Given the description of an element on the screen output the (x, y) to click on. 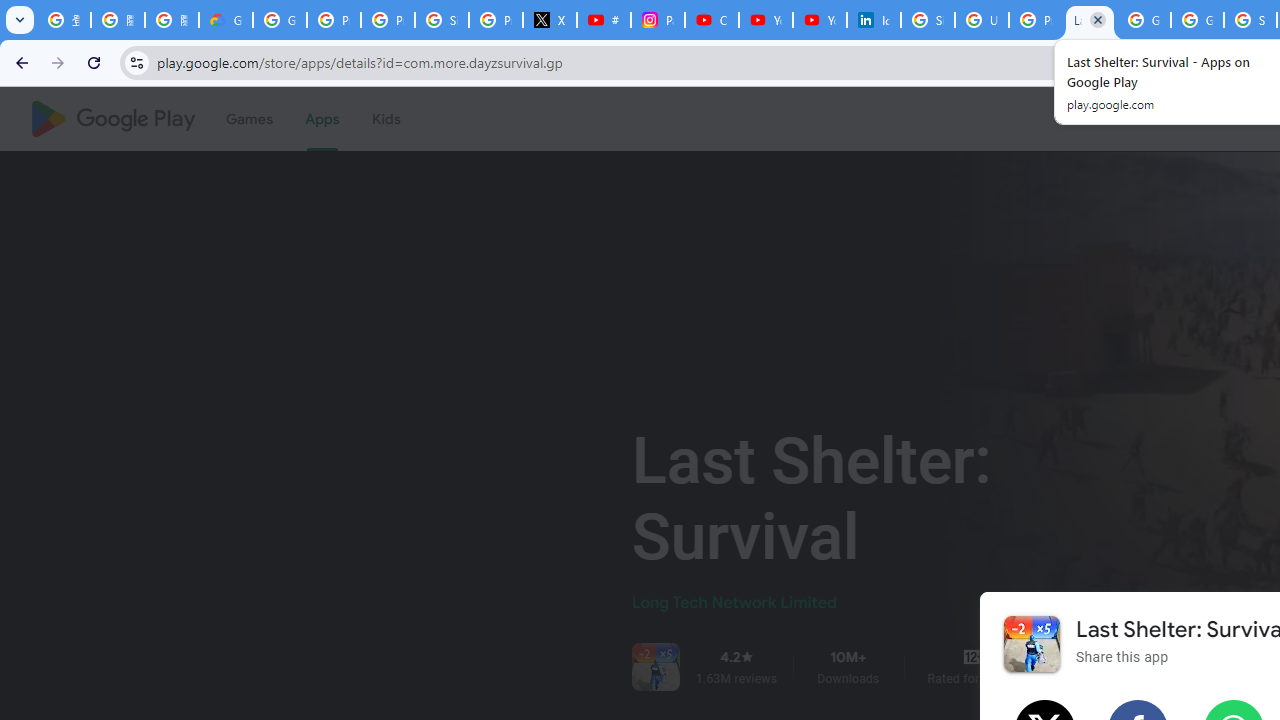
X (550, 20)
#nbabasketballhighlights - YouTube (604, 20)
Privacy Help Center - Policies Help (387, 20)
Sign in - Google Accounts (927, 20)
Sign in - Google Accounts (441, 20)
